Given the description of an element on the screen output the (x, y) to click on. 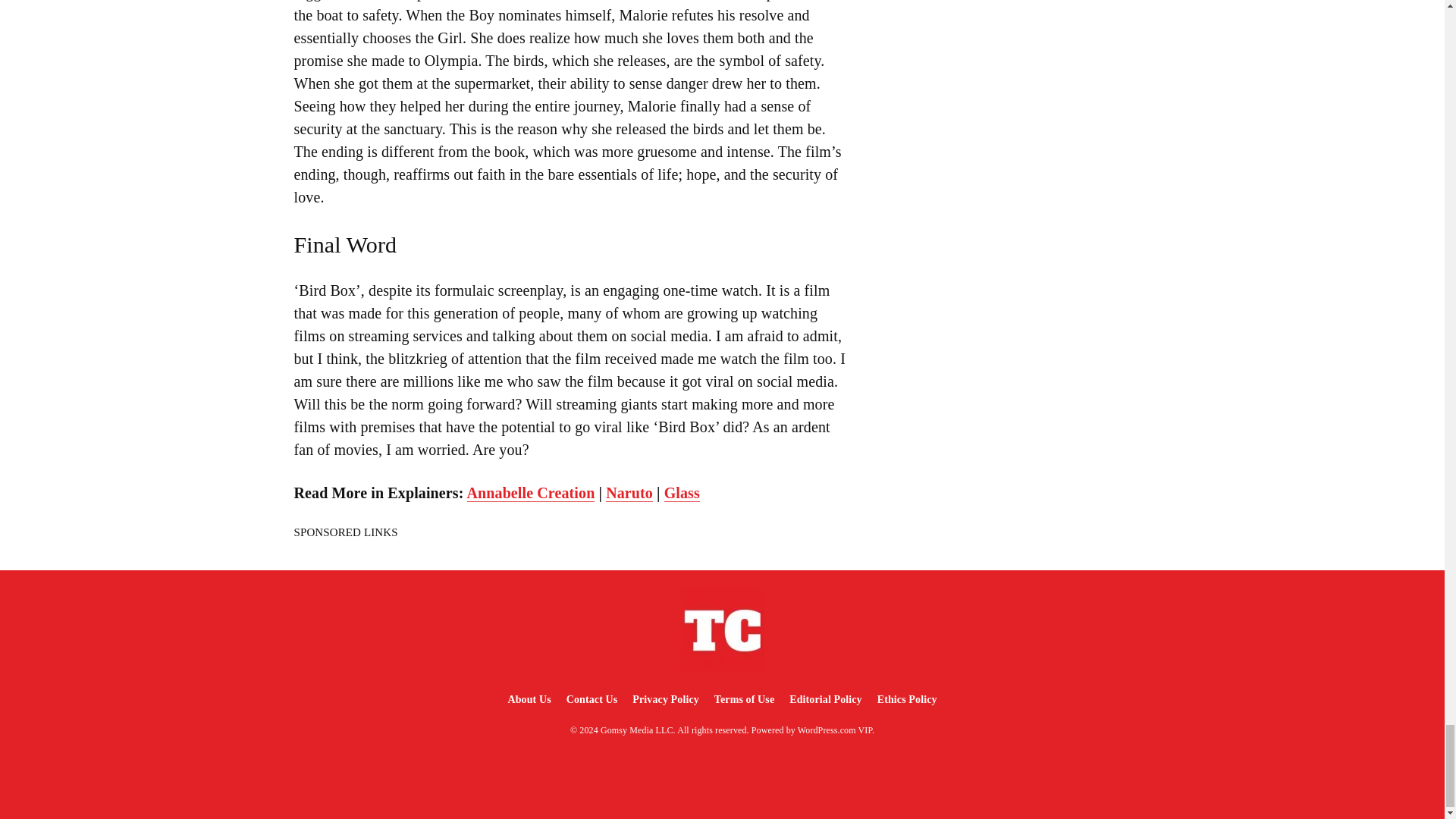
Privacy Policy (665, 699)
Annabelle Creation (531, 493)
About Us (528, 699)
Editorial Policy (825, 699)
Terms of Use (743, 699)
Contact Us (592, 699)
Glass (681, 493)
Ethics Policy (906, 699)
Naruto (628, 493)
WordPress.com VIP (834, 729)
